Given the description of an element on the screen output the (x, y) to click on. 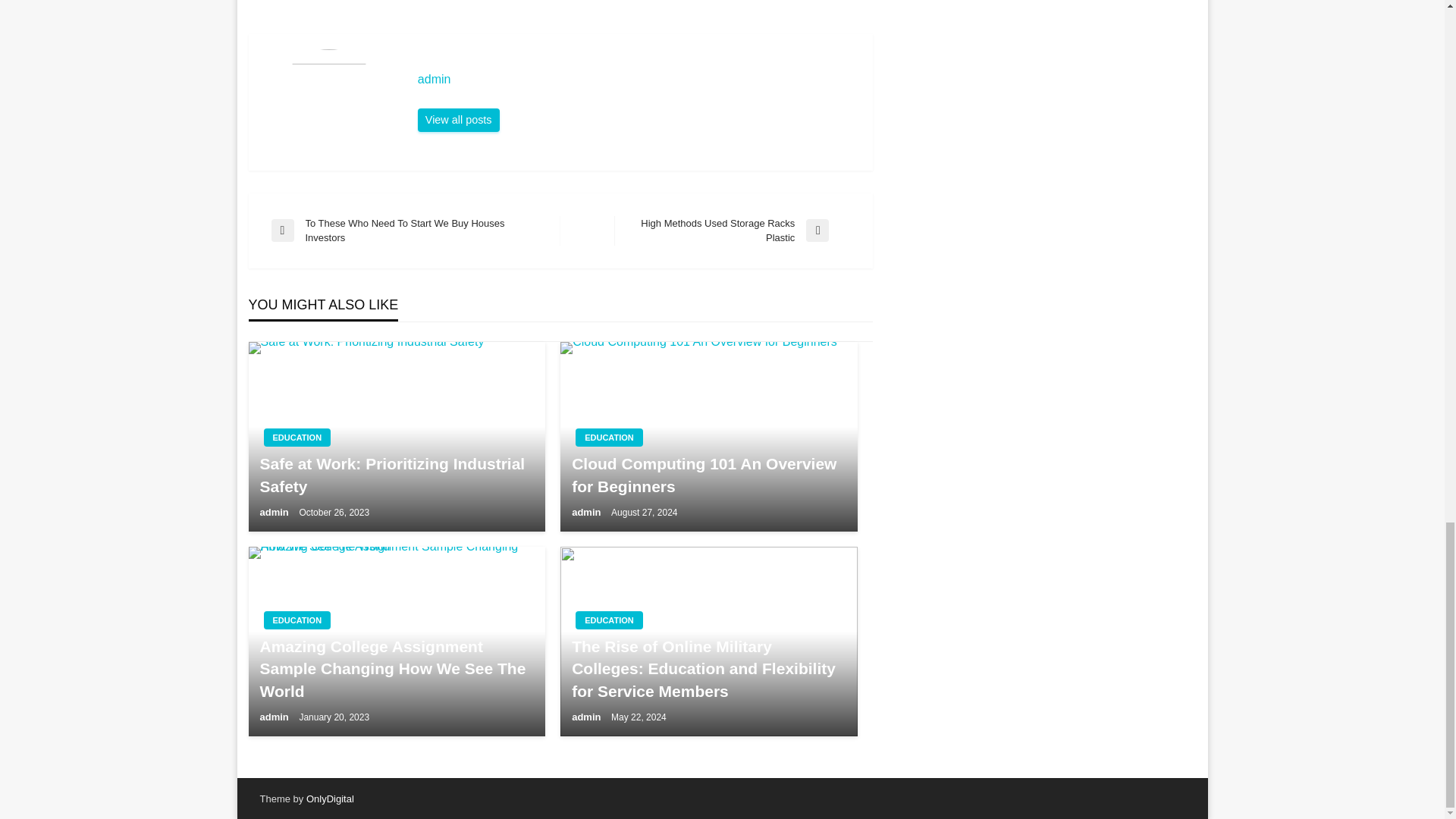
admin (275, 716)
admin (637, 79)
Safe at Work: Prioritizing Industrial Safety (396, 474)
admin (458, 120)
EDUCATION (297, 619)
admin (637, 79)
EDUCATION (732, 230)
Cloud Computing 101 An Overview for Beginners (297, 437)
